Given the description of an element on the screen output the (x, y) to click on. 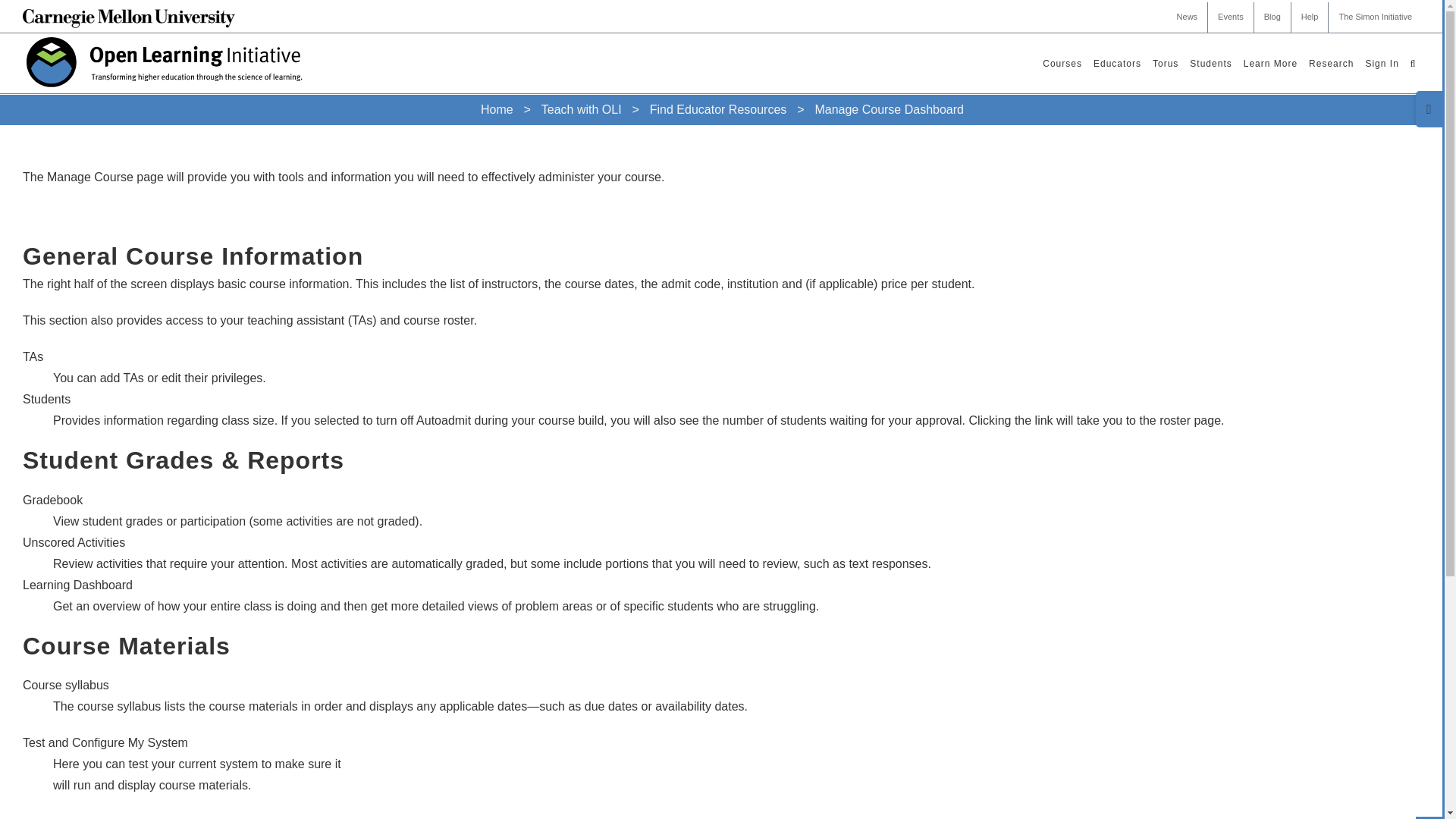
Learn More (1270, 63)
Blog (1271, 17)
News (1187, 17)
The Simon Initiative (1374, 17)
Research (1331, 63)
Educators (1117, 63)
Events (1230, 17)
Help (1309, 17)
